Given the description of an element on the screen output the (x, y) to click on. 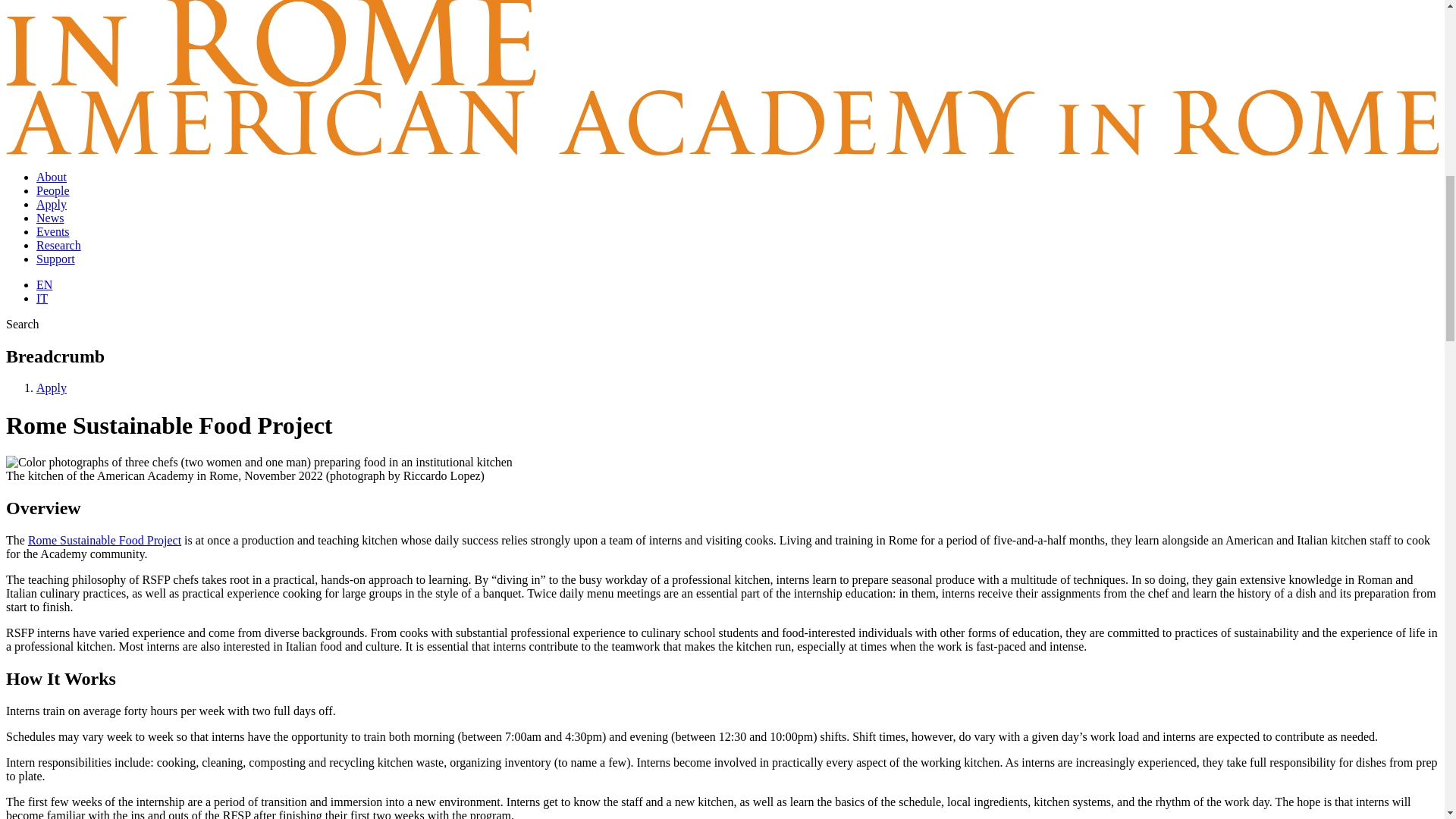
Support (55, 258)
Apply (51, 387)
People (52, 190)
Research (58, 245)
Rome Sustainable Food Project (103, 540)
News (50, 217)
EN (44, 284)
About (51, 176)
Rome Sustainable Food Project (103, 540)
Apply (51, 204)
Events (52, 231)
